Given the description of an element on the screen output the (x, y) to click on. 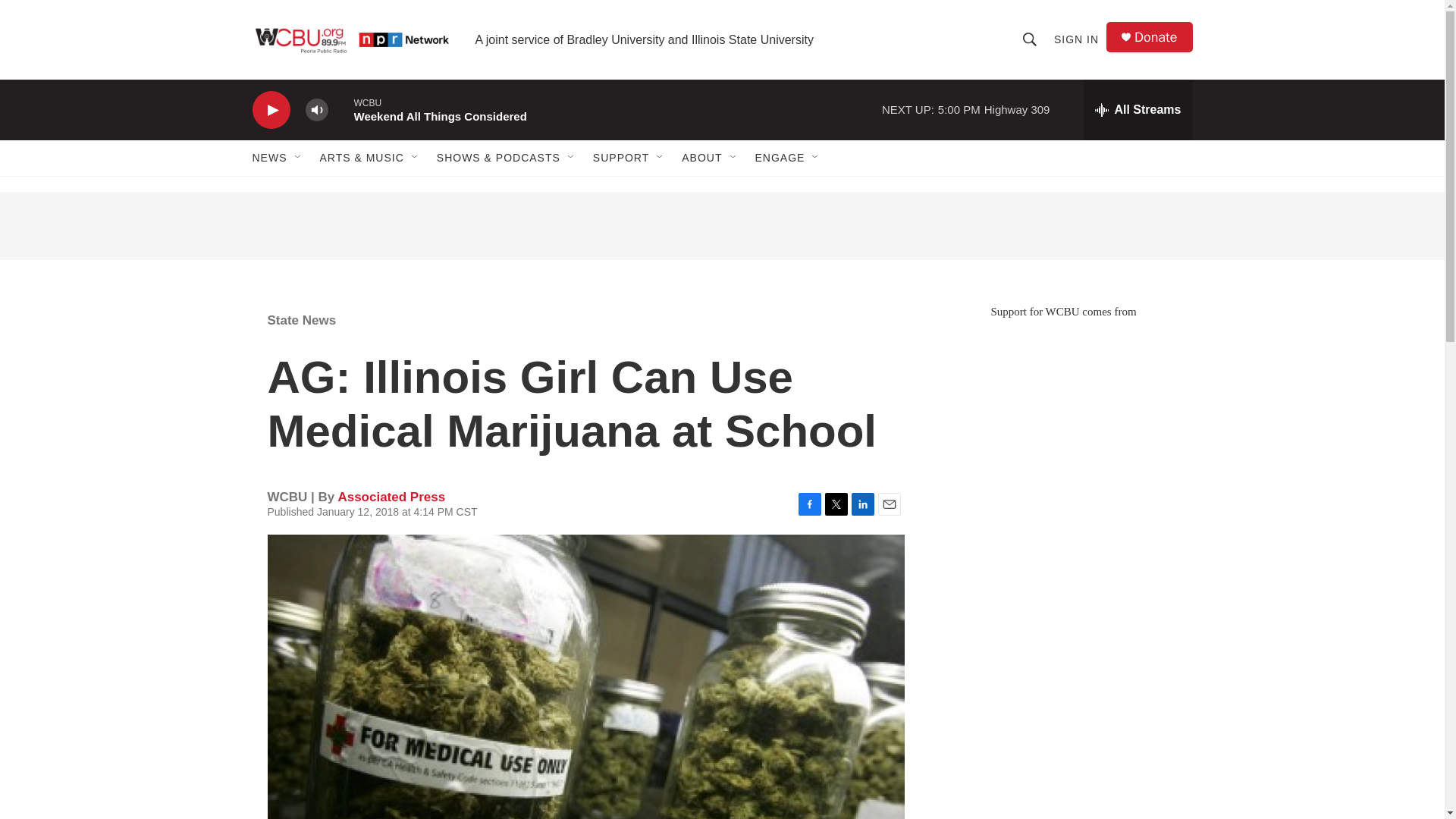
3rd party ad content (721, 225)
3rd party ad content (1062, 428)
3rd party ad content (1062, 647)
3rd party ad content (1062, 796)
